Given the description of an element on the screen output the (x, y) to click on. 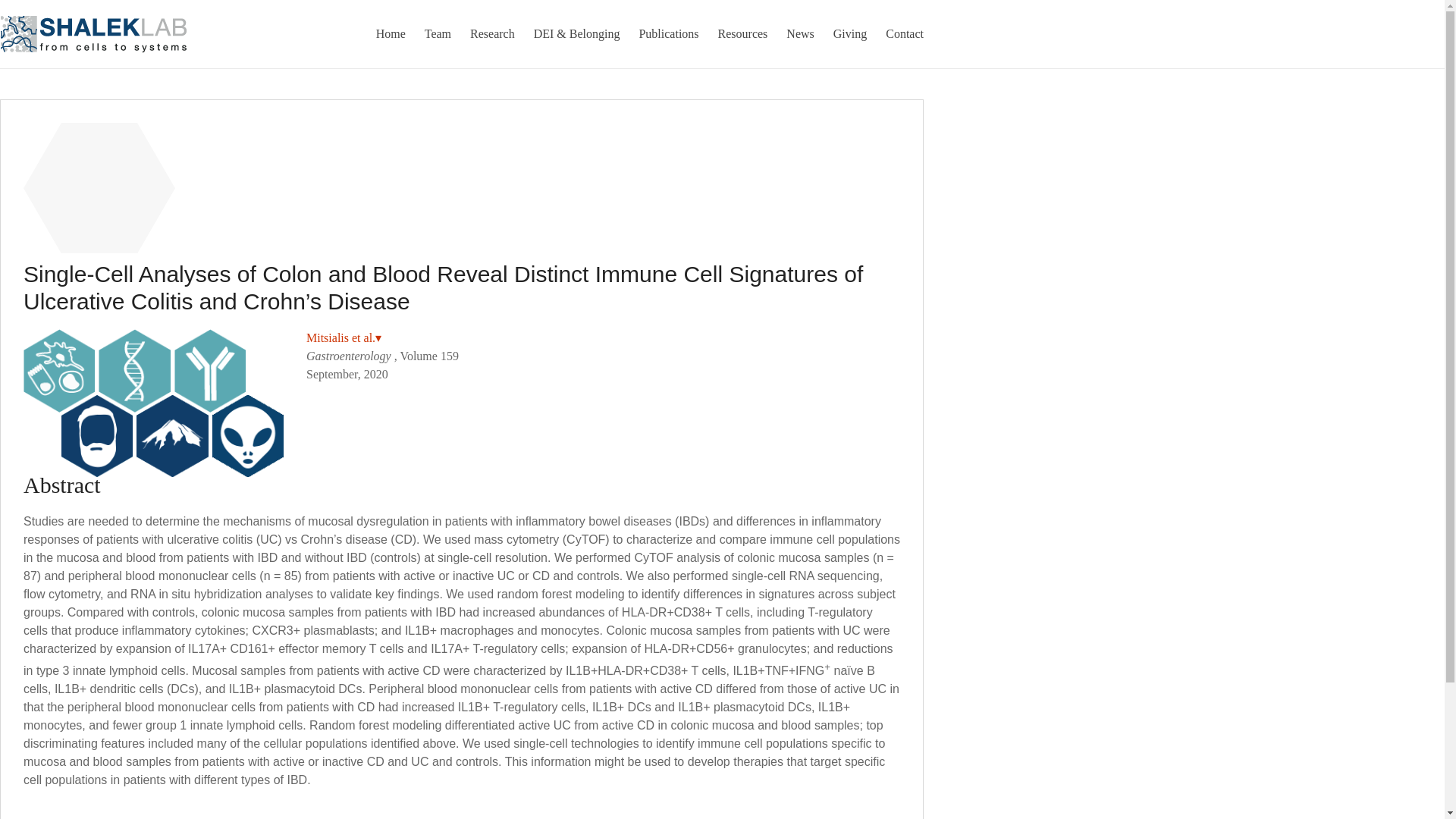
Publications (668, 33)
Contact (904, 33)
Resources (742, 33)
Giving (849, 33)
Home (390, 33)
Research (492, 33)
News (799, 33)
Team (438, 33)
